Given the description of an element on the screen output the (x, y) to click on. 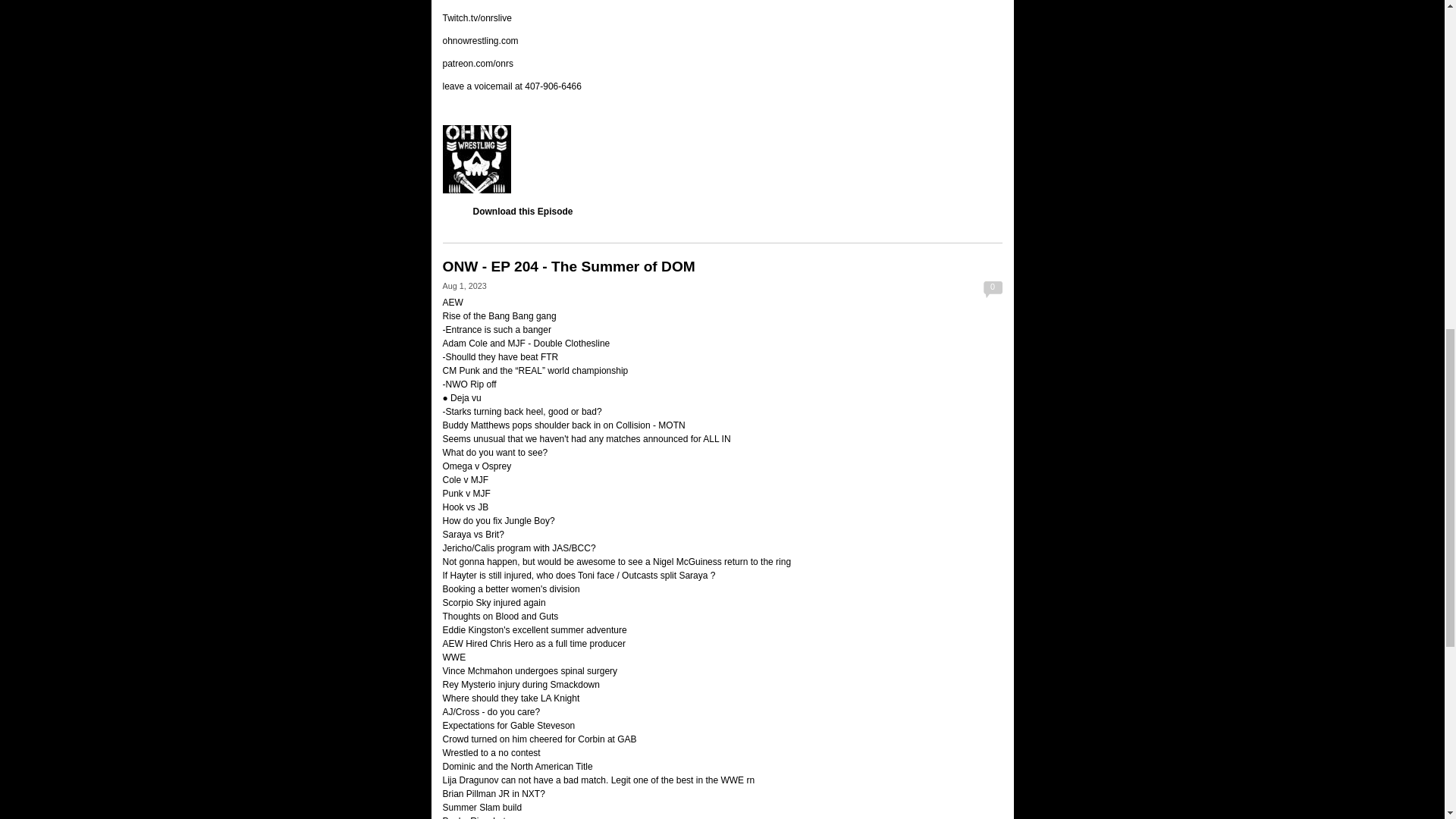
Libsyn Player (722, 159)
